Given the description of an element on the screen output the (x, y) to click on. 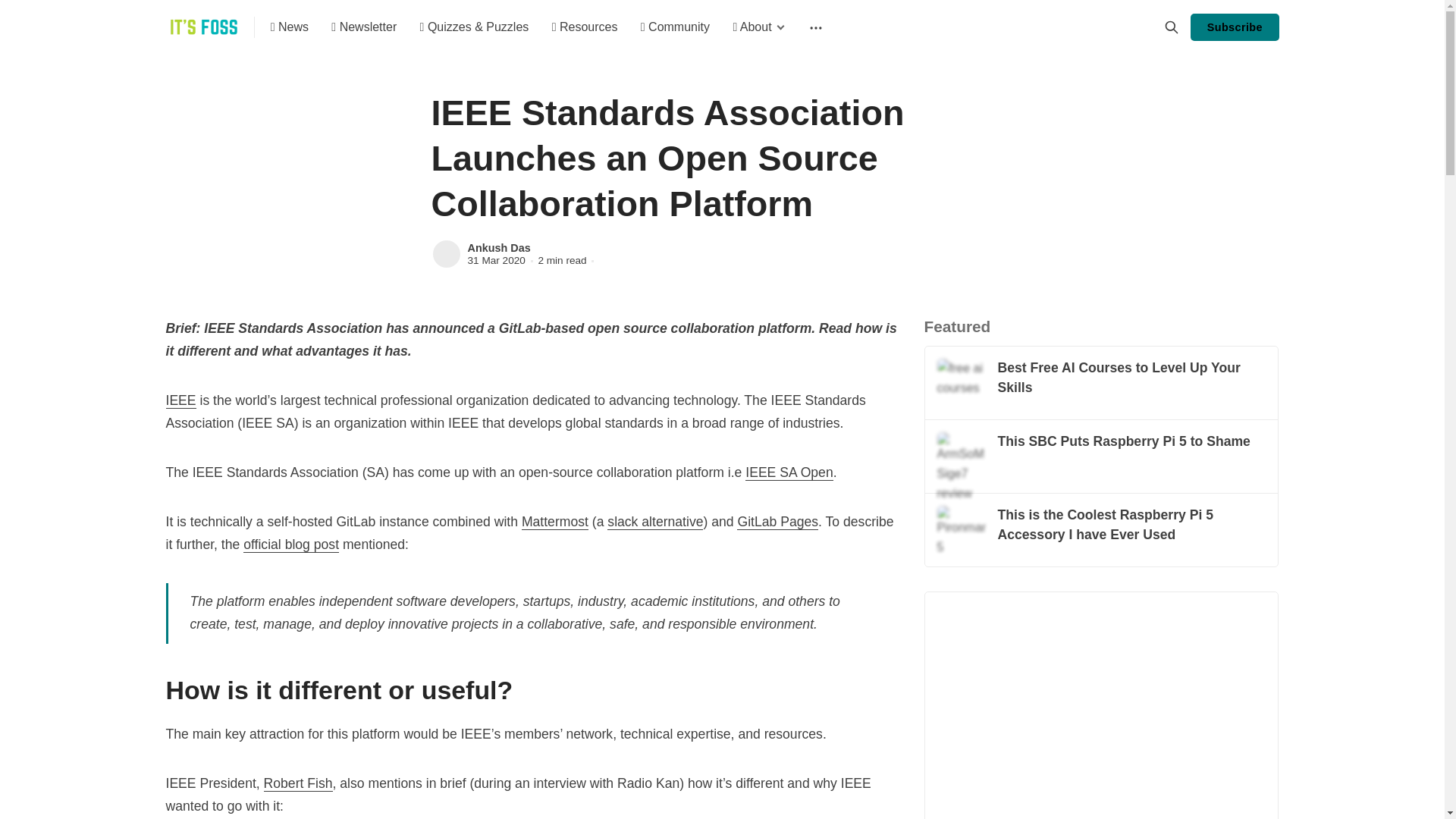
GitLab Pages (777, 521)
Ankush Das (445, 254)
IEEE SA Open (788, 472)
Search (1171, 26)
Mattermost (554, 521)
slack alternative (655, 521)
Subscribe (1234, 26)
Ankush Das (498, 247)
IEEE (180, 400)
